Given the description of an element on the screen output the (x, y) to click on. 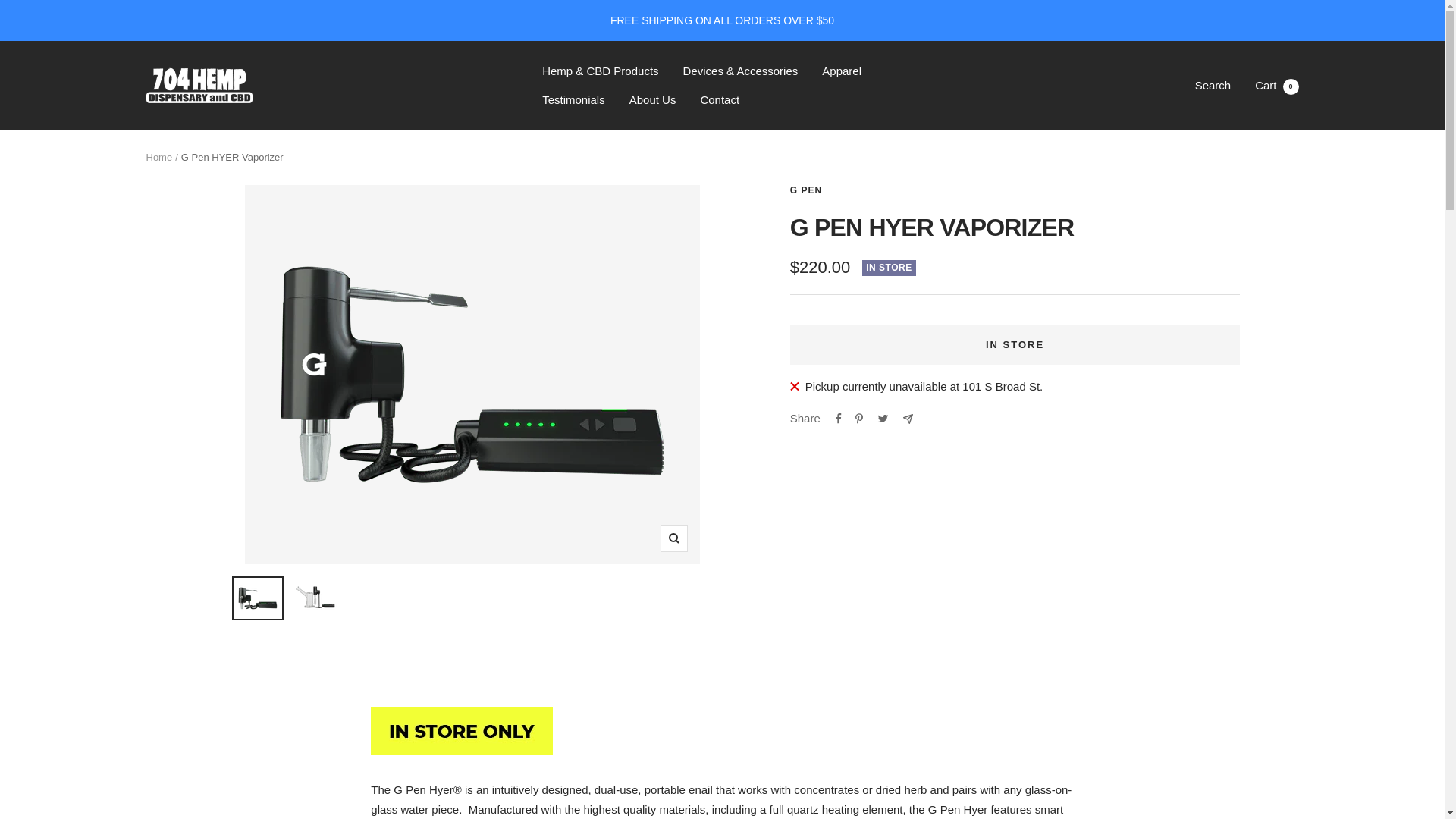
G PEN (806, 190)
704-hemp (198, 85)
About Us (652, 99)
Zoom (674, 538)
Home (158, 156)
Testimonials (573, 99)
Contact (719, 99)
IN STORE (1015, 344)
Apparel (841, 71)
Search (1213, 84)
